Given the description of an element on the screen output the (x, y) to click on. 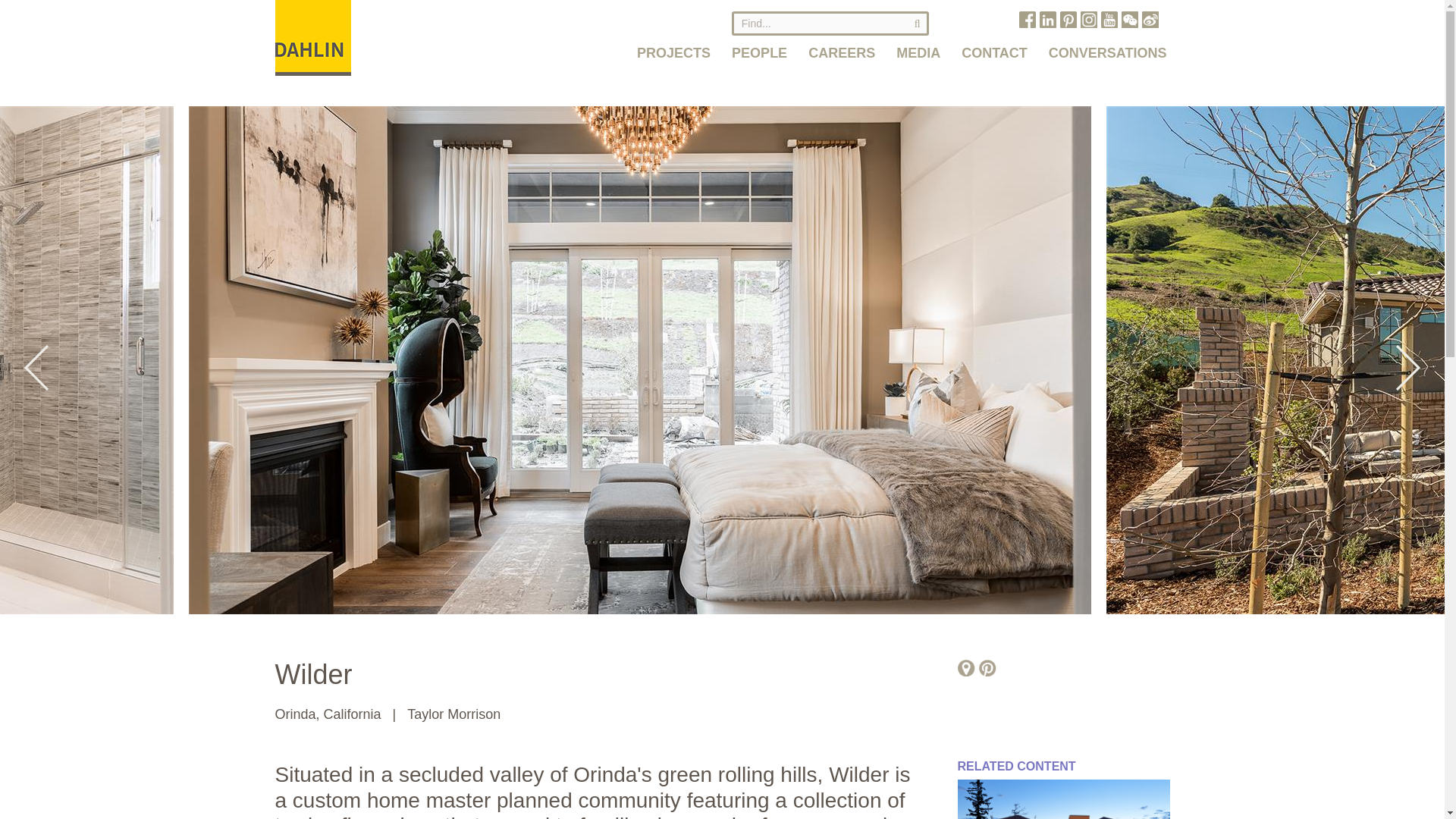
CONTACT (994, 45)
WeChat (1129, 19)
Weibo (1149, 19)
Facebook (1027, 19)
LinkedIn (1047, 19)
CAREERS (841, 45)
Instagram (1088, 19)
YouTube (1109, 19)
Pinterest (1068, 19)
PROJECTS (673, 45)
CONVERSATIONS (1107, 45)
